Given the description of an element on the screen output the (x, y) to click on. 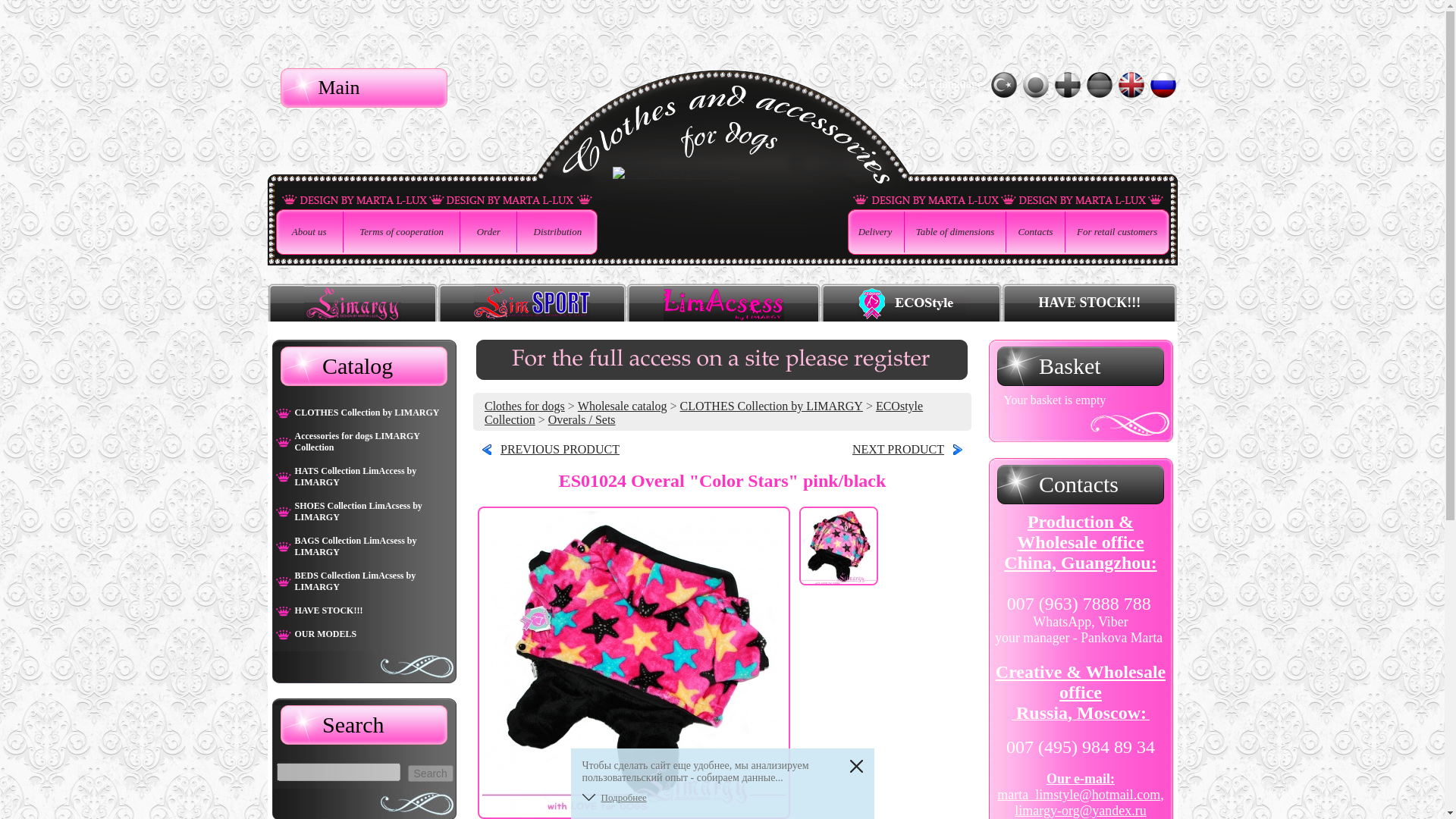
Delivery (873, 231)
limacsess (722, 308)
Table of dimensions (955, 231)
CLOTHES Collection by LIMARGY (771, 405)
Main (363, 87)
ES01024-2 Overal "Color Stars" black (911, 449)
About us (309, 231)
Clothes for dogs (524, 405)
Search (429, 773)
Accessories for dogs LIMARGY Collection (360, 442)
ECOstyle Collection (703, 412)
Other brands (910, 309)
Deutsche (1099, 84)
Limargy (352, 309)
CLOTHES Collection by LIMARGY (360, 413)
